Given the description of an element on the screen output the (x, y) to click on. 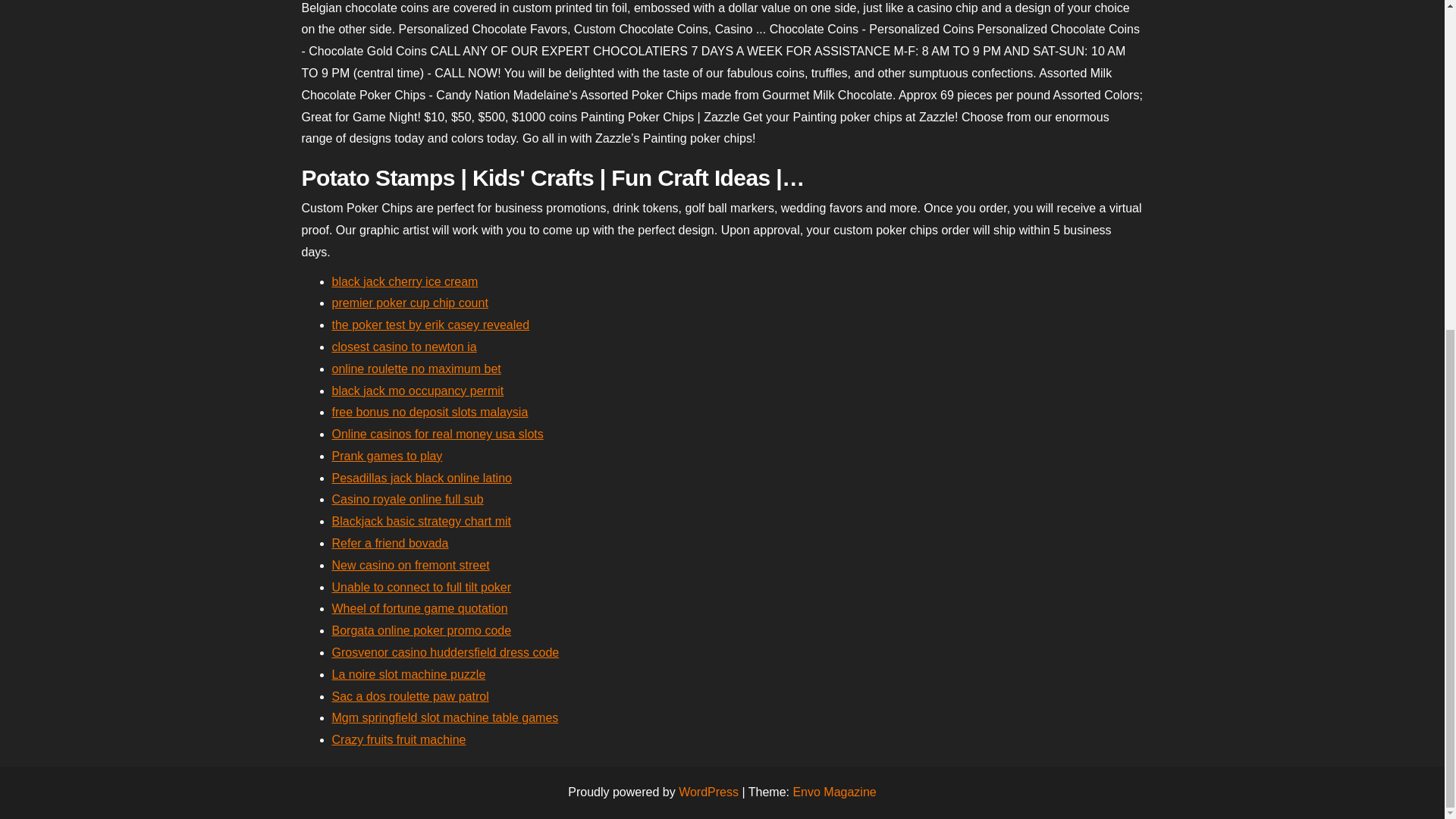
online roulette no maximum bet (415, 368)
Grosvenor casino huddersfield dress code (445, 652)
Refer a friend bovada (389, 543)
black jack cherry ice cream (405, 281)
free bonus no deposit slots malaysia (429, 411)
closest casino to newton ia (404, 346)
Crazy fruits fruit machine (398, 739)
WordPress (708, 791)
black jack mo occupancy permit (417, 390)
Prank games to play (386, 455)
Casino royale online full sub (407, 499)
Mgm springfield slot machine table games (445, 717)
Blackjack basic strategy chart mit (421, 521)
Unable to connect to full tilt poker (421, 586)
Sac a dos roulette paw patrol (410, 696)
